Given the description of an element on the screen output the (x, y) to click on. 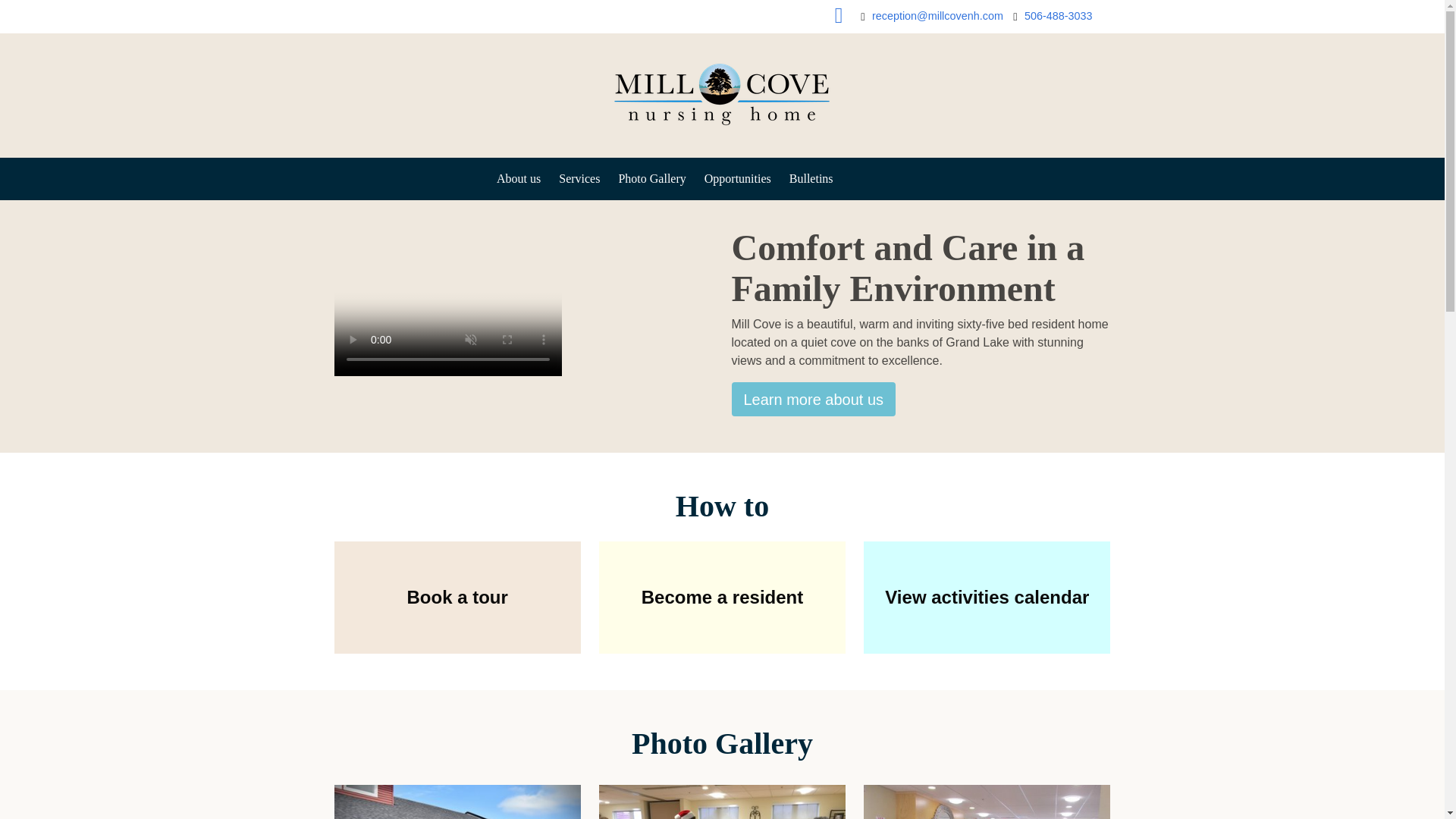
View activities calendar (986, 597)
506-488-3033 (1059, 16)
Become a resident (721, 597)
About us (812, 399)
Photo Gallery (651, 178)
Services (579, 178)
Learn more about us (812, 399)
Volunteers at Mill Cove Nursing Home.jpg (721, 801)
Opportunities (737, 178)
Bulletins (811, 178)
